Given the description of an element on the screen output the (x, y) to click on. 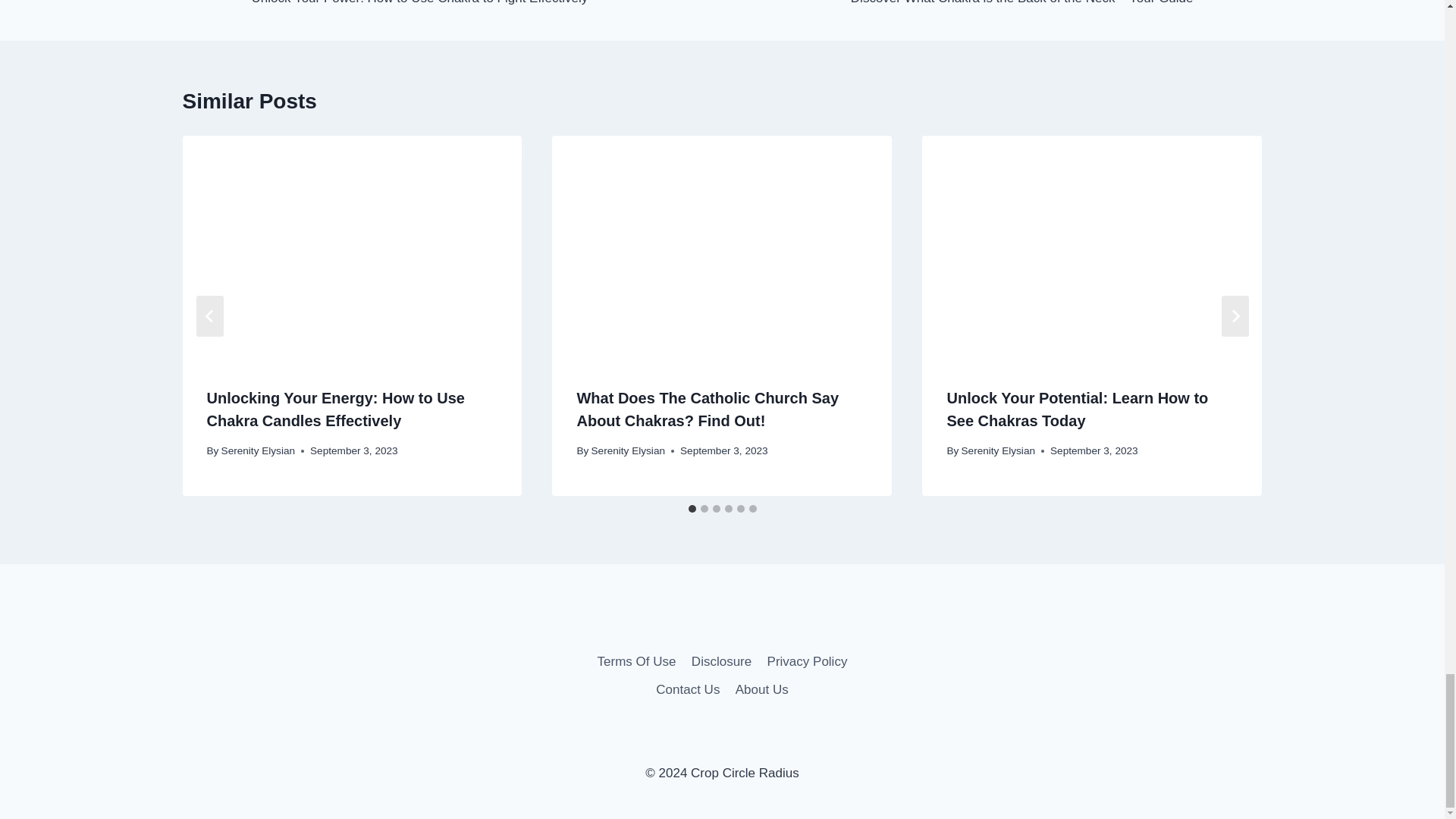
Serenity Elysian (258, 450)
Serenity Elysian (628, 450)
Unlocking Your Energy: How to Use Chakra Candles Effectively (335, 409)
What Does The Catholic Church Say About Chakras? Find Out! (707, 409)
